Given the description of an element on the screen output the (x, y) to click on. 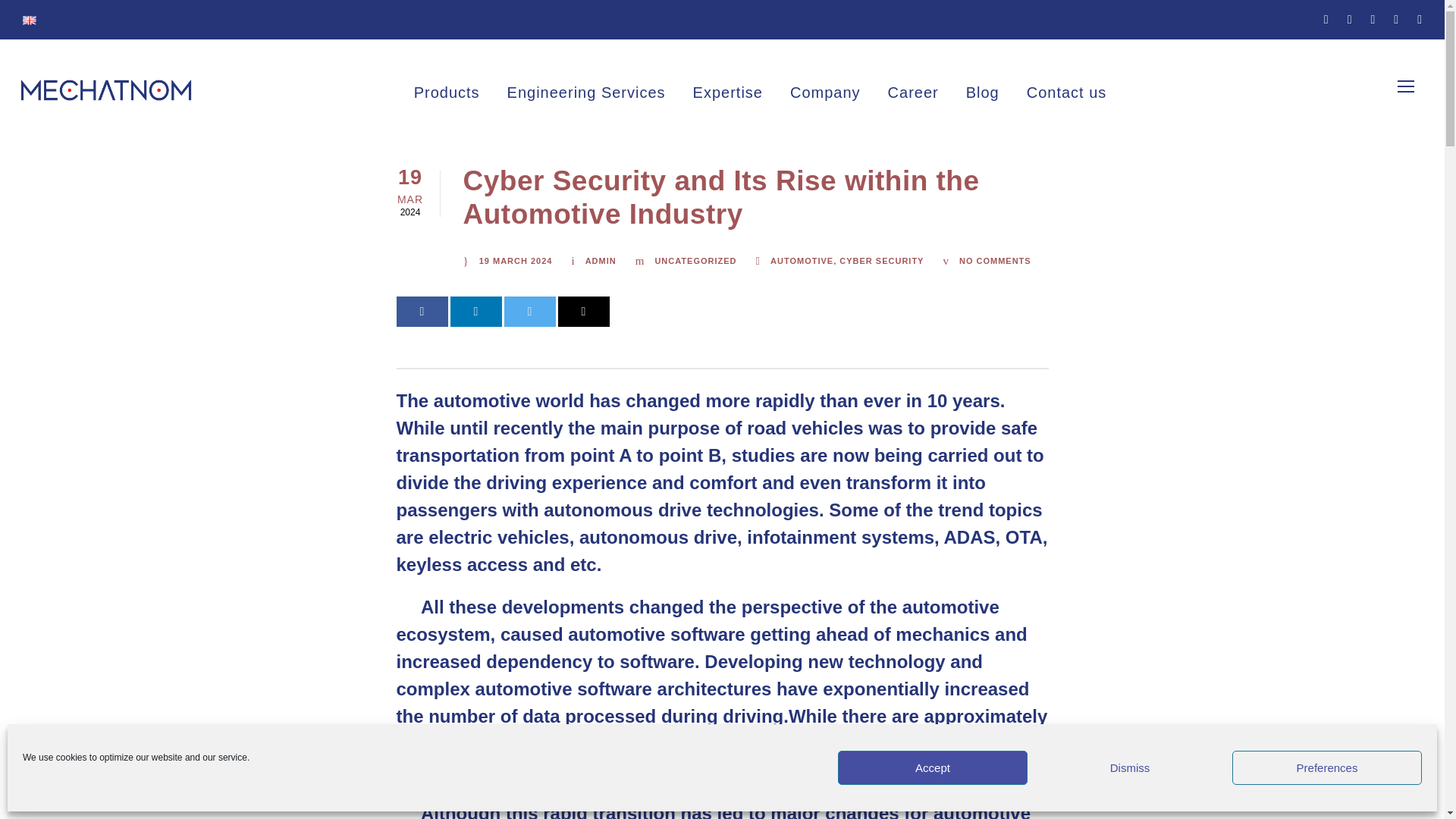
Accept (932, 767)
Products (446, 98)
Dismiss (1129, 767)
Logo (105, 89)
Engineering Services (585, 98)
Preferences (1326, 767)
Posts by admin (600, 260)
